Given the description of an element on the screen output the (x, y) to click on. 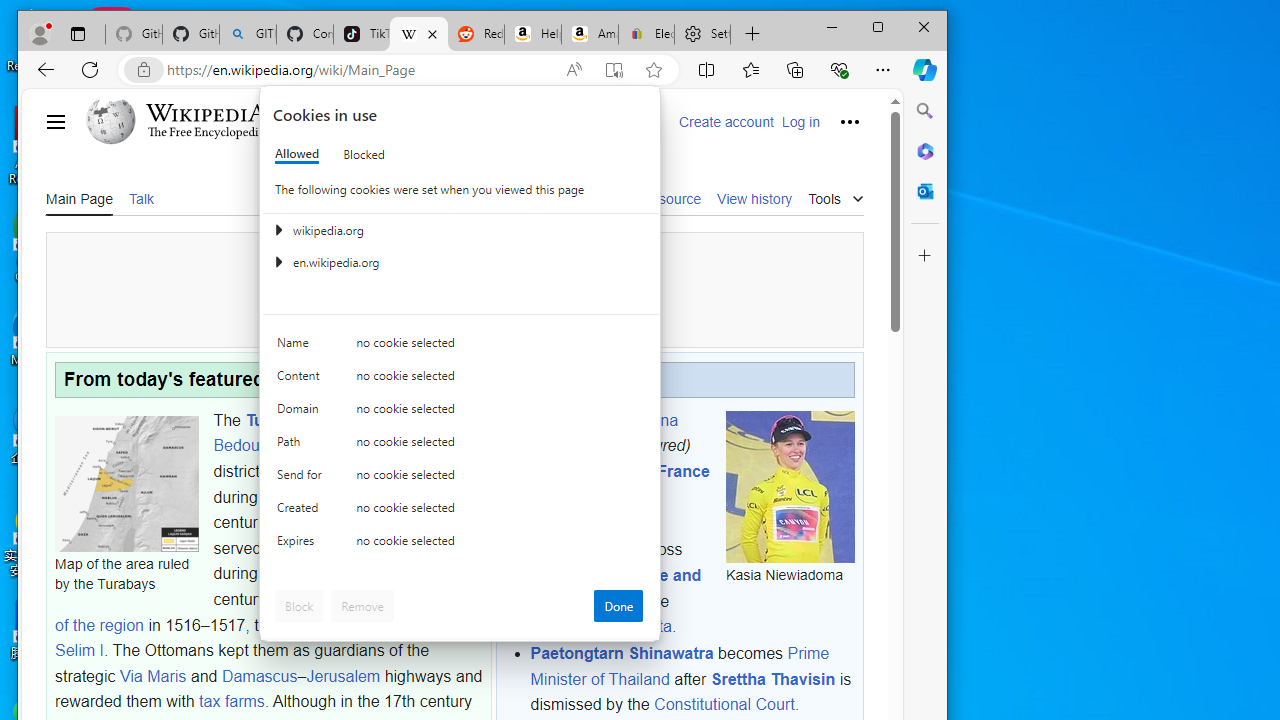
Remove (362, 605)
Blocked (363, 153)
Allowed (296, 153)
Content (302, 380)
Class: c0153 c0157 (460, 545)
Send for (302, 479)
Domain (302, 413)
Expires (302, 544)
no cookie selected (500, 544)
Class: c0153 c0157 c0154 (460, 347)
Name (302, 346)
Created (302, 511)
Path (302, 446)
Block (299, 605)
Done (617, 605)
